Given the description of an element on the screen output the (x, y) to click on. 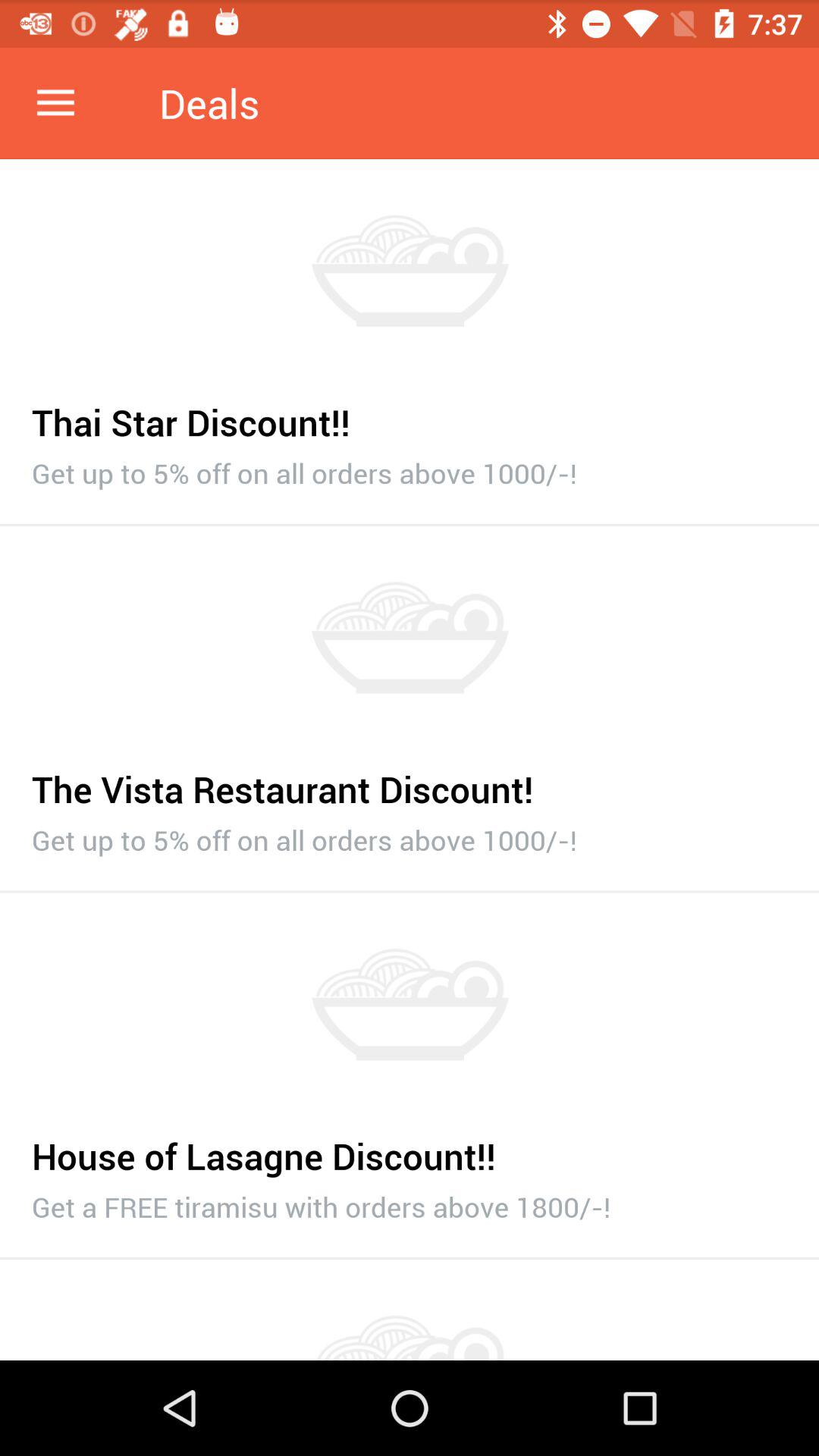
turn off icon below get up to item (409, 524)
